Given the description of an element on the screen output the (x, y) to click on. 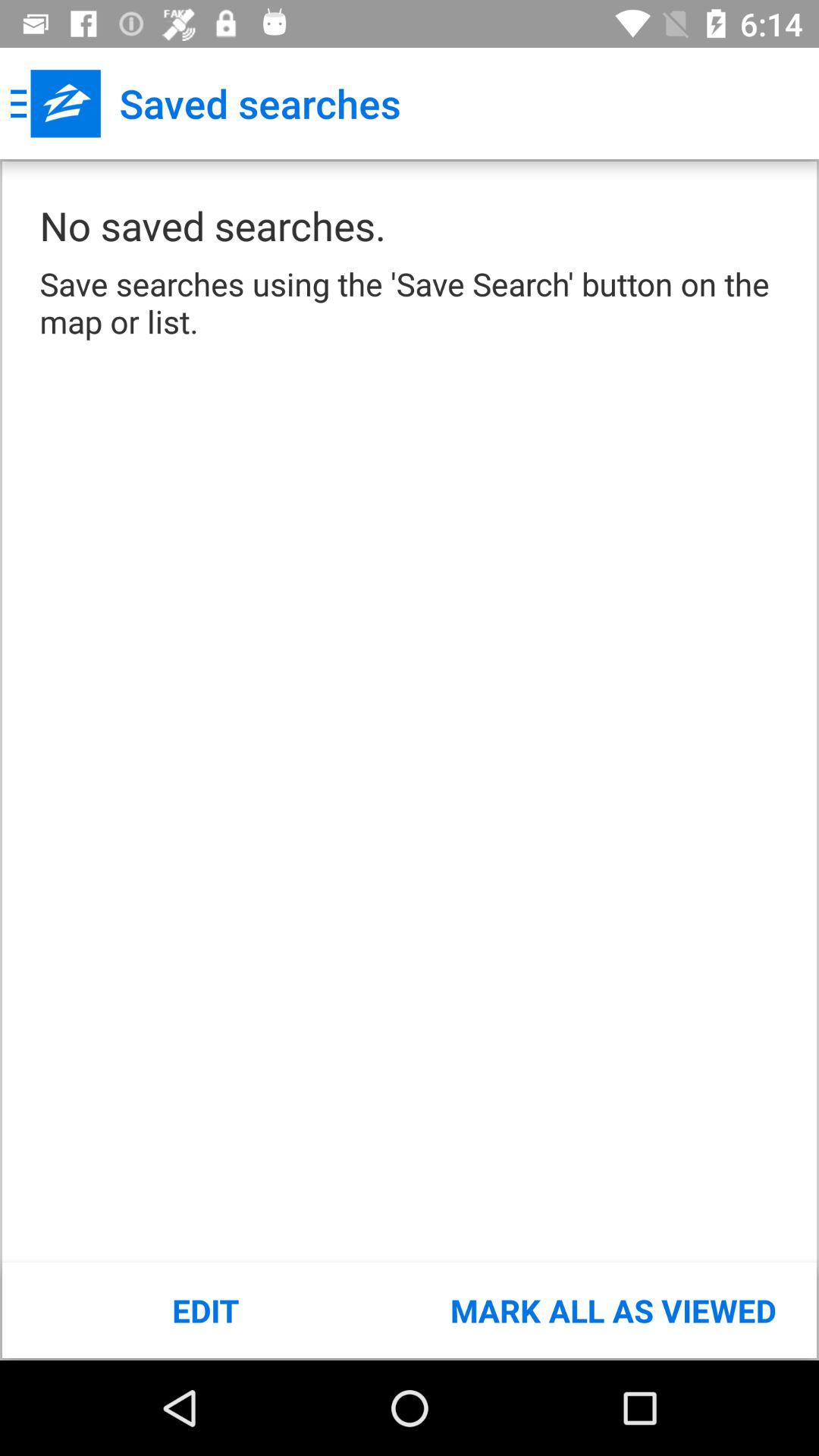
turn off the icon above no saved searches. (55, 103)
